Given the description of an element on the screen output the (x, y) to click on. 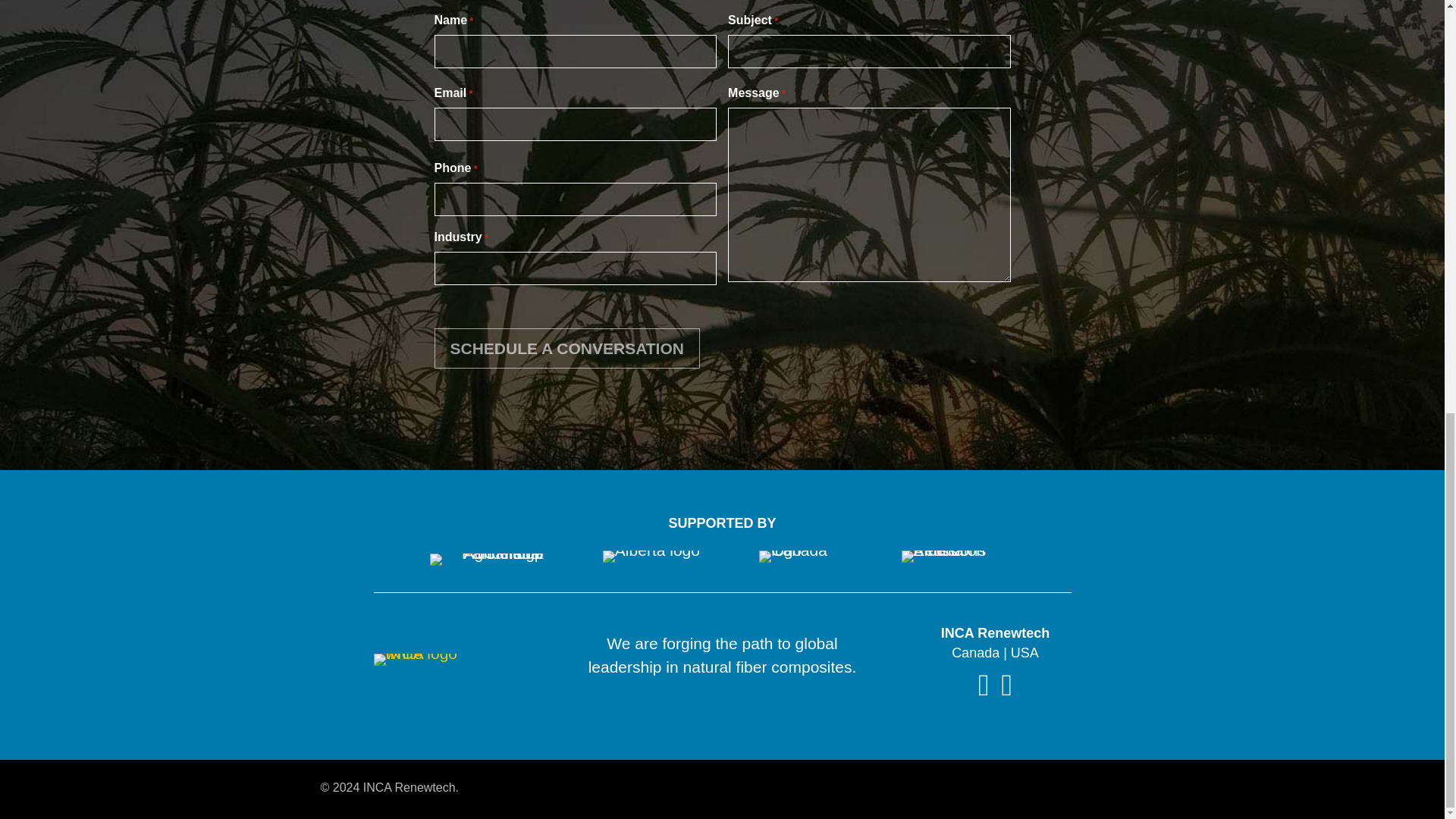
Schedule a Conversation (565, 348)
Schedule a Conversation (565, 348)
ERA-white (946, 556)
Canadia Agricultural Partnership logo (486, 559)
Canada logo (804, 556)
Alberta logo (651, 556)
